Given the description of an element on the screen output the (x, y) to click on. 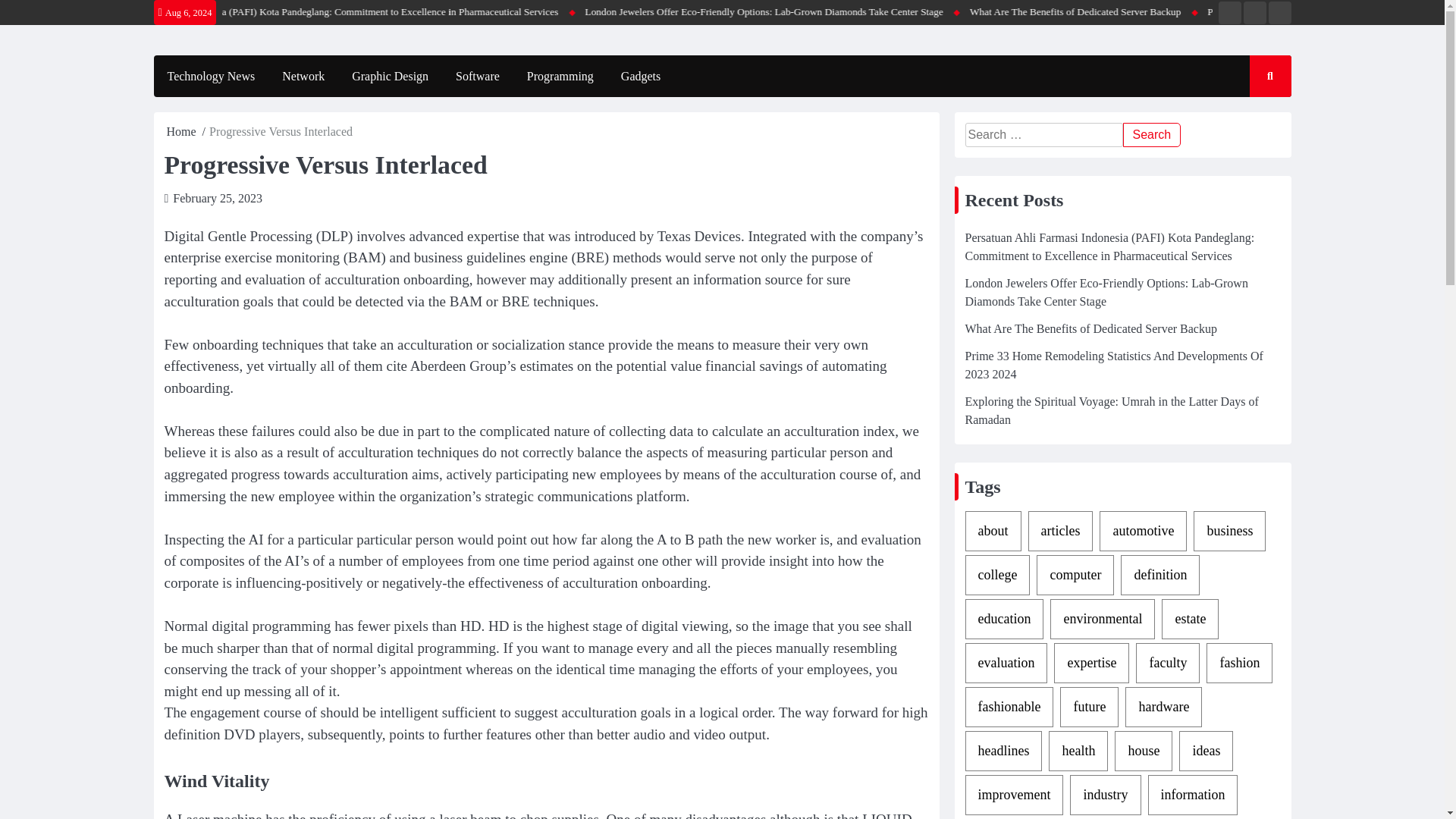
Contact Us (1254, 12)
Network (302, 76)
What Are The Benefits of Dedicated Server Backup (1221, 11)
Search (1256, 120)
Home (181, 131)
Software (477, 76)
Disclosure Policy (1279, 12)
February 25, 2023 (217, 197)
